Given the description of an element on the screen output the (x, y) to click on. 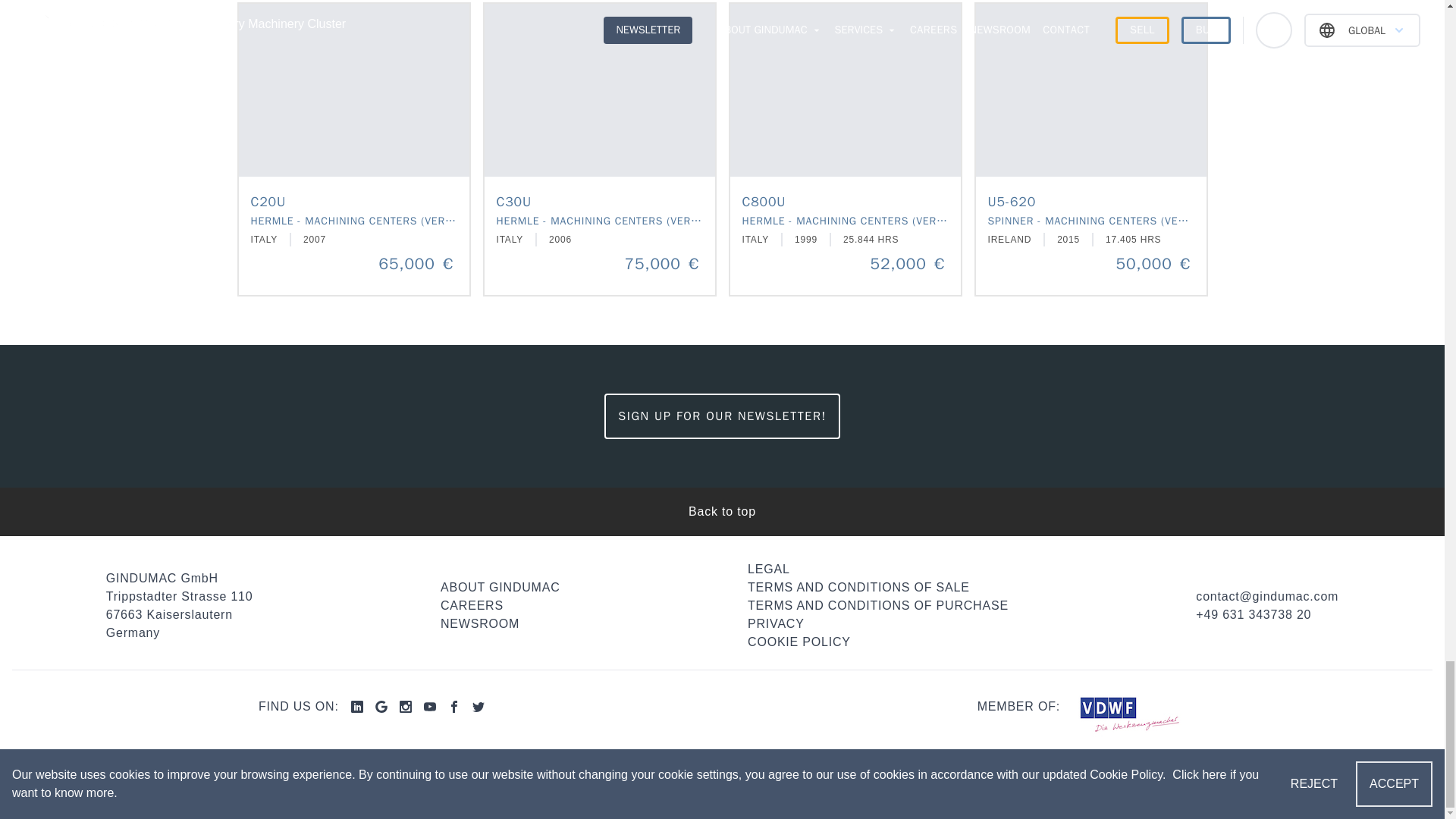
SIGN UP FOR OUR NEWSLETTER! (722, 415)
